Given the description of an element on the screen output the (x, y) to click on. 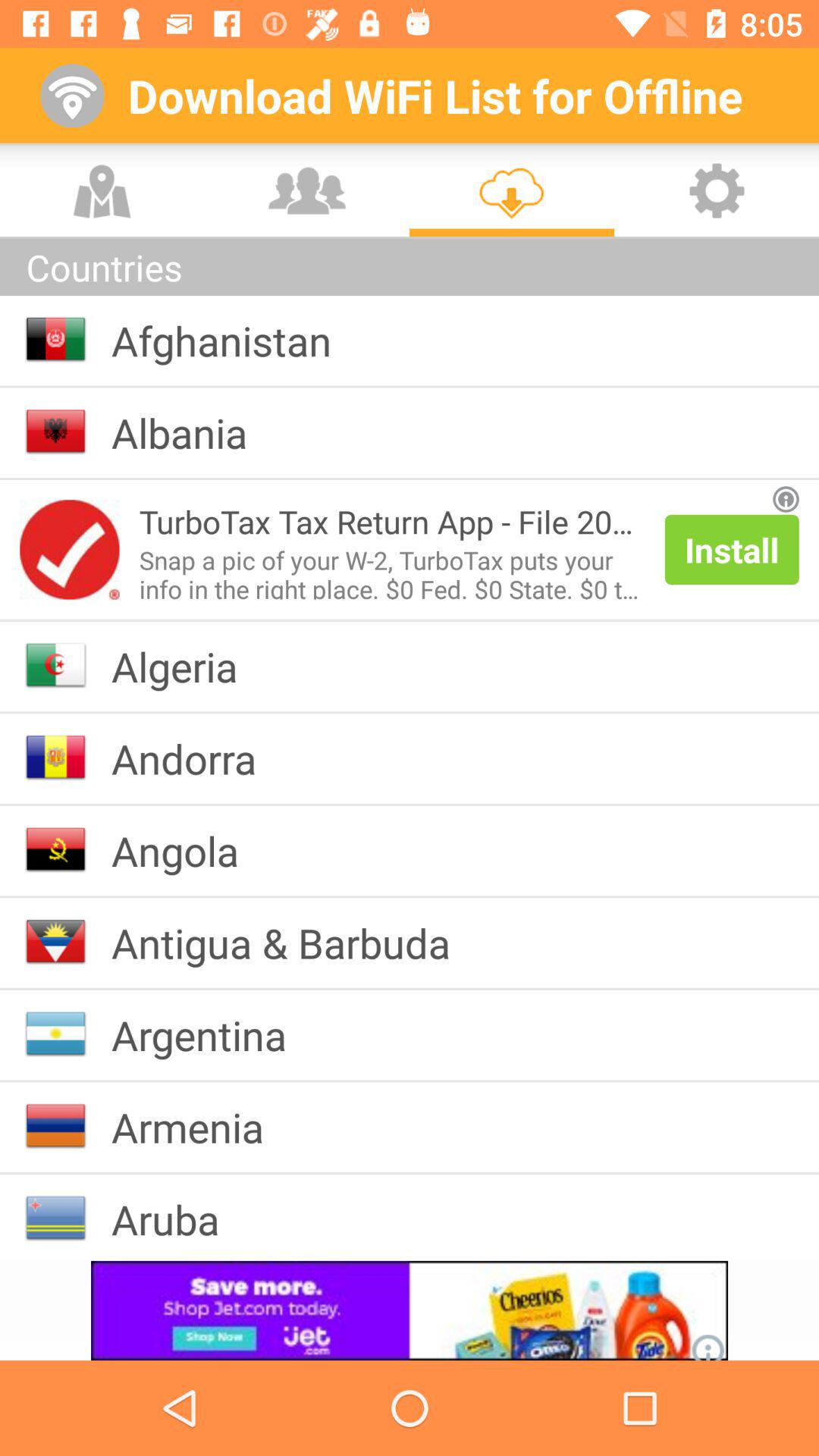
turn on snap a pic item (391, 571)
